Given the description of an element on the screen output the (x, y) to click on. 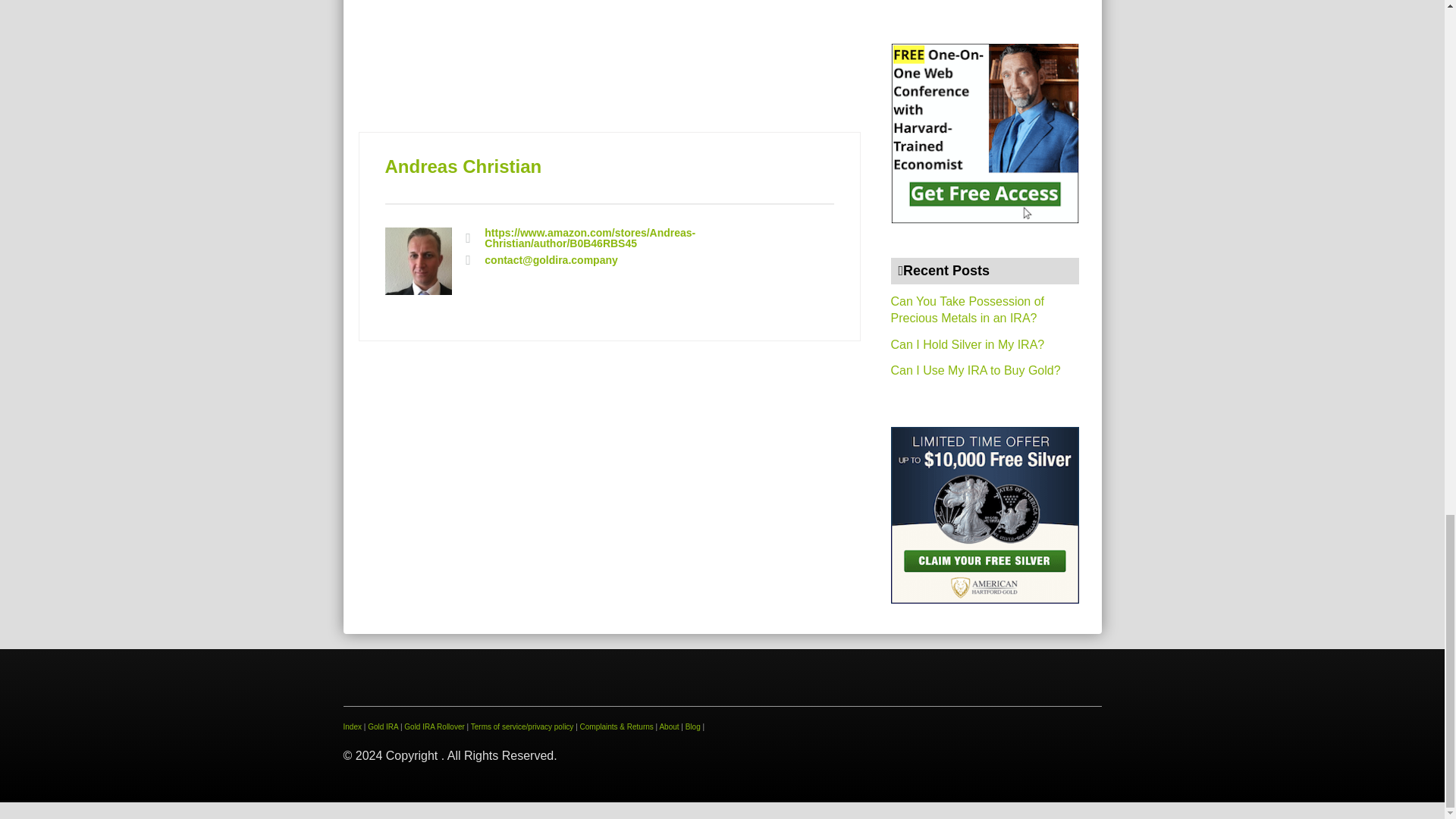
About (668, 726)
Can I Hold Silver in My IRA? (966, 344)
Gold IRA Rollover (434, 726)
Andreas Christian (463, 166)
Blog (692, 726)
Gold IRA (382, 726)
Can I Use My IRA to Buy Gold? (974, 369)
Can You Take Possession of Precious Metals in an IRA? (966, 309)
Index (351, 726)
